Given the description of an element on the screen output the (x, y) to click on. 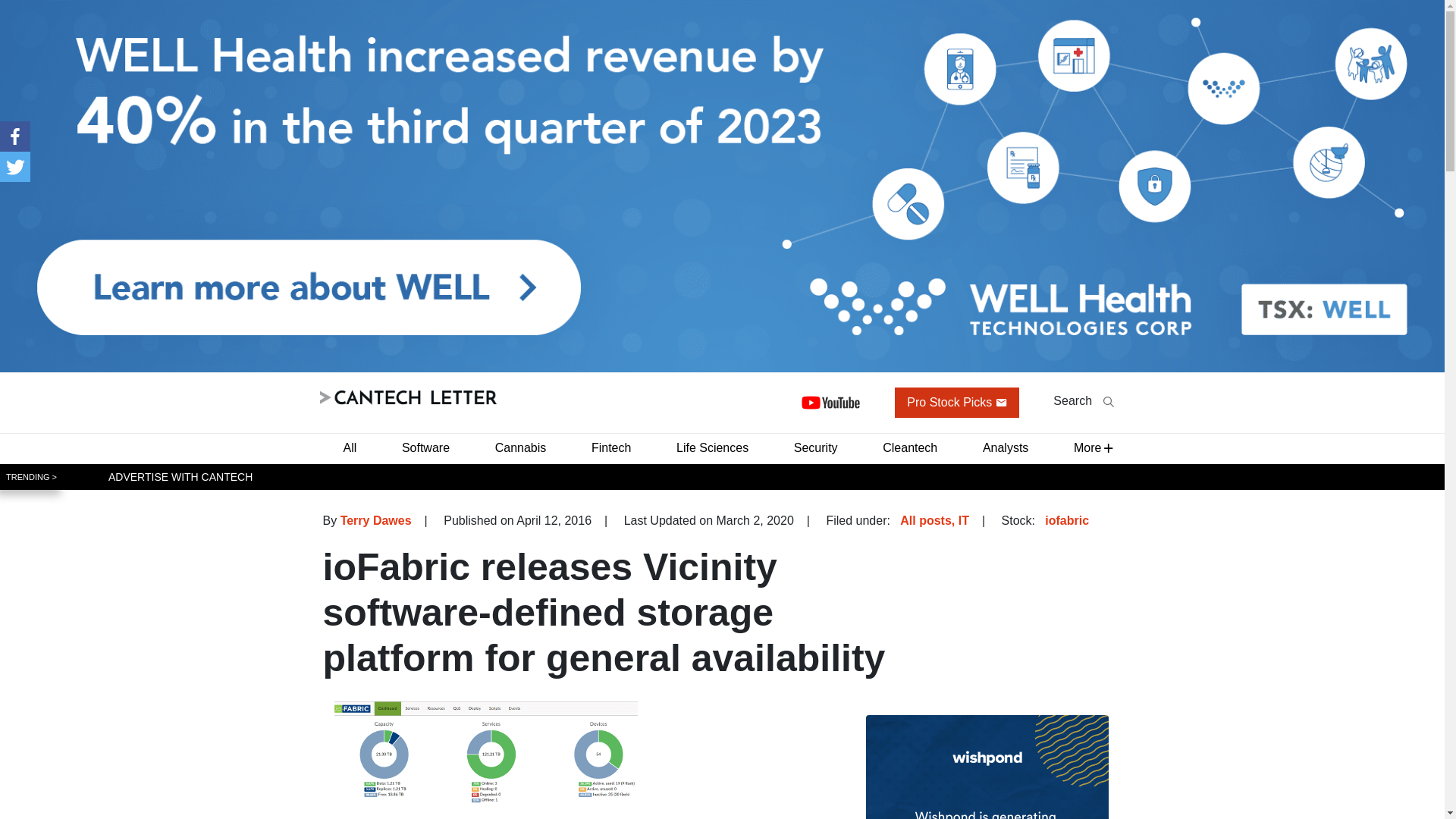
Security (815, 447)
Cannabis (521, 447)
Analysts (1006, 447)
More (1087, 447)
All (349, 447)
Twitter (15, 166)
Fintech (611, 447)
ADVERTISE WITH CANTECH (180, 477)
Pro Stock Picks (957, 402)
Software (425, 447)
Facebook (15, 136)
Cleantech (909, 447)
Search (1083, 400)
Terry Dawes (376, 520)
Life Sciences (711, 447)
